Given the description of an element on the screen output the (x, y) to click on. 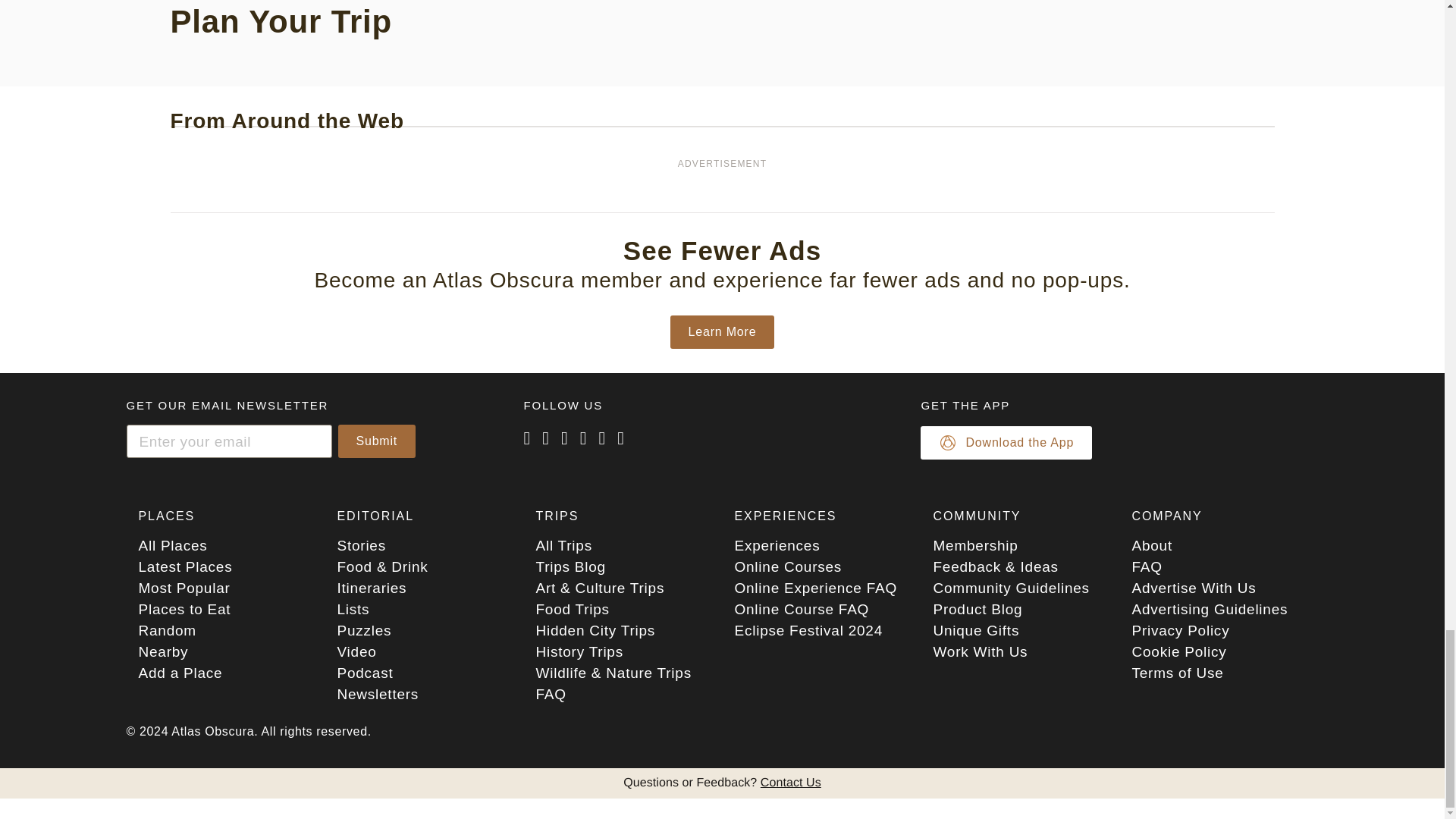
Submit (376, 441)
